Given the description of an element on the screen output the (x, y) to click on. 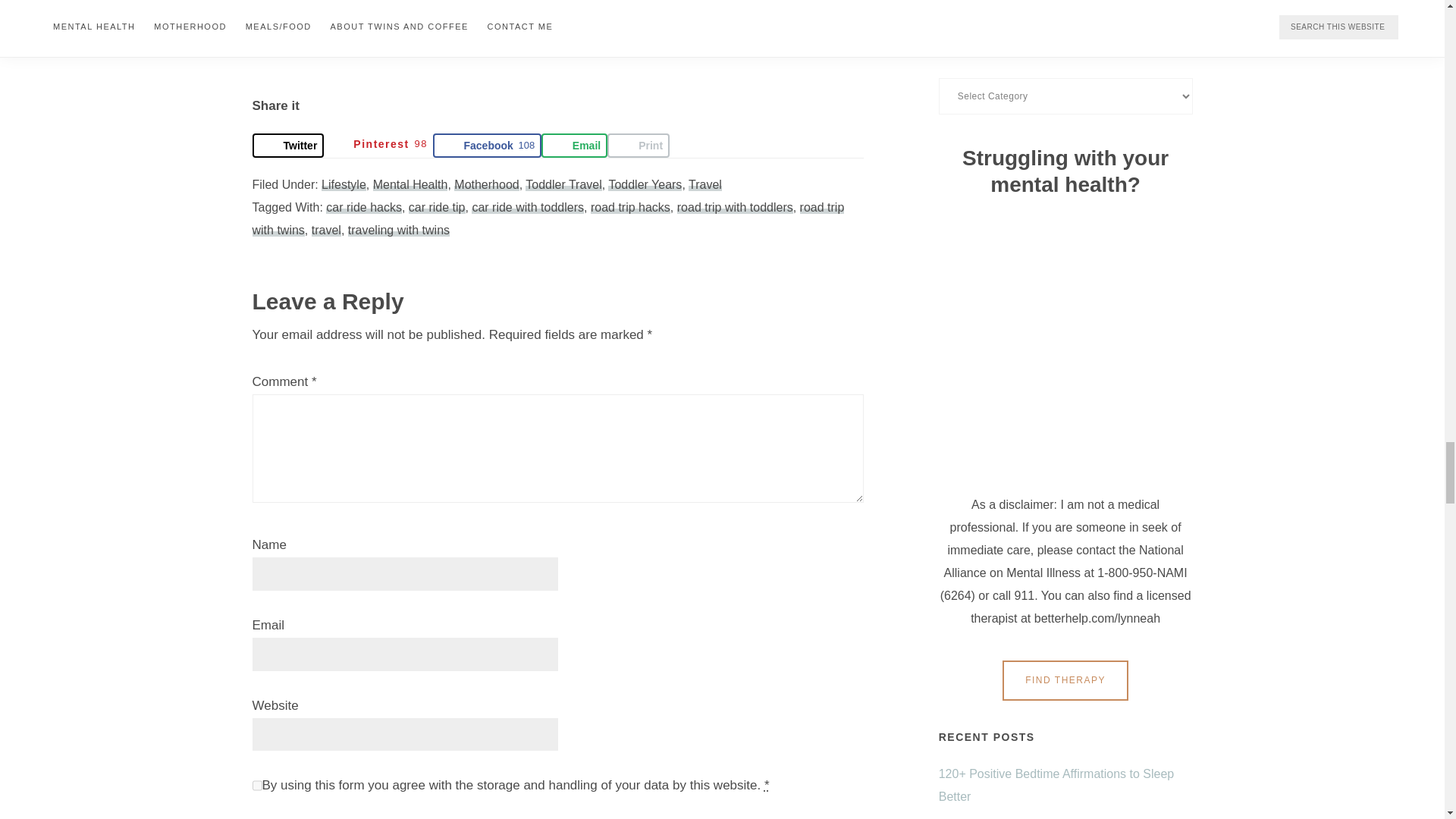
Save to Pinterest (377, 145)
Print this webpage (638, 145)
Send over email (574, 145)
Share on X (287, 145)
Share on Facebook (486, 145)
Go (1065, 7)
